Given the description of an element on the screen output the (x, y) to click on. 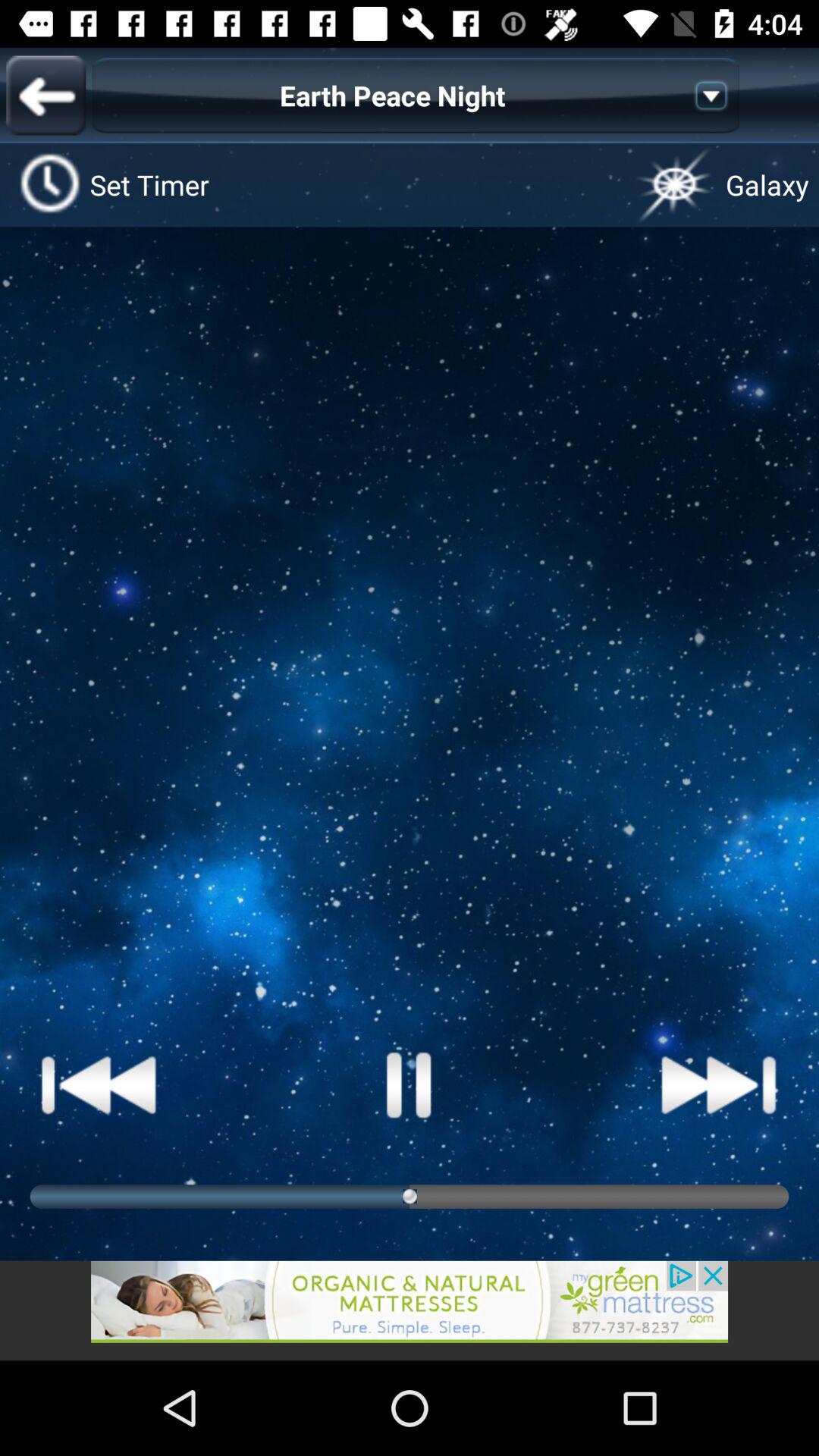
front option (45, 95)
